Given the description of an element on the screen output the (x, y) to click on. 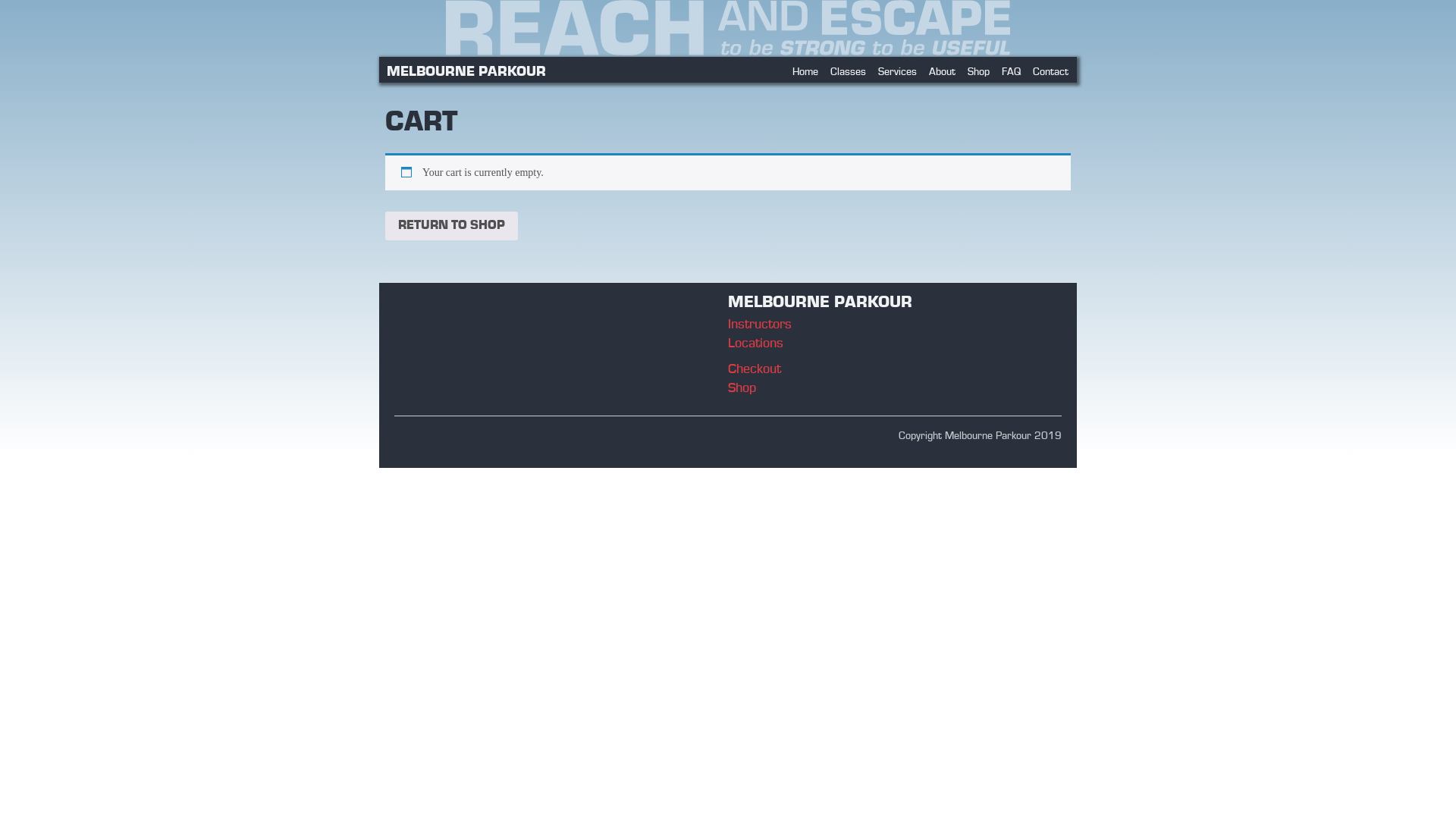
Home Element type: text (805, 71)
RETURN TO SHOP Element type: text (451, 225)
Instructors Element type: text (759, 324)
Services Element type: text (897, 71)
Contact Element type: text (1050, 71)
Checkout Element type: text (754, 369)
Locations Element type: text (755, 343)
Shop Element type: text (742, 388)
FAQ Element type: text (1010, 71)
